Given the description of an element on the screen output the (x, y) to click on. 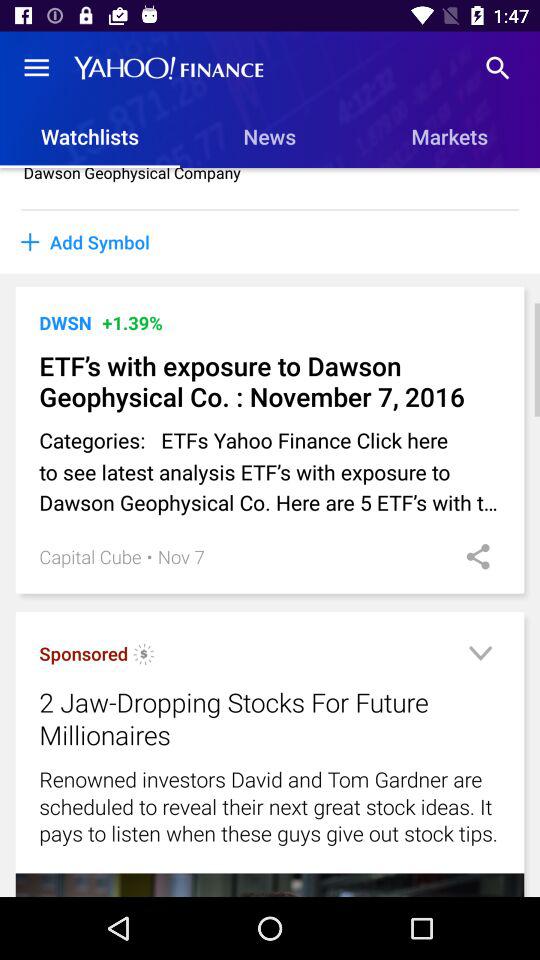
turn on the 2 jaw dropping item (244, 718)
